Given the description of an element on the screen output the (x, y) to click on. 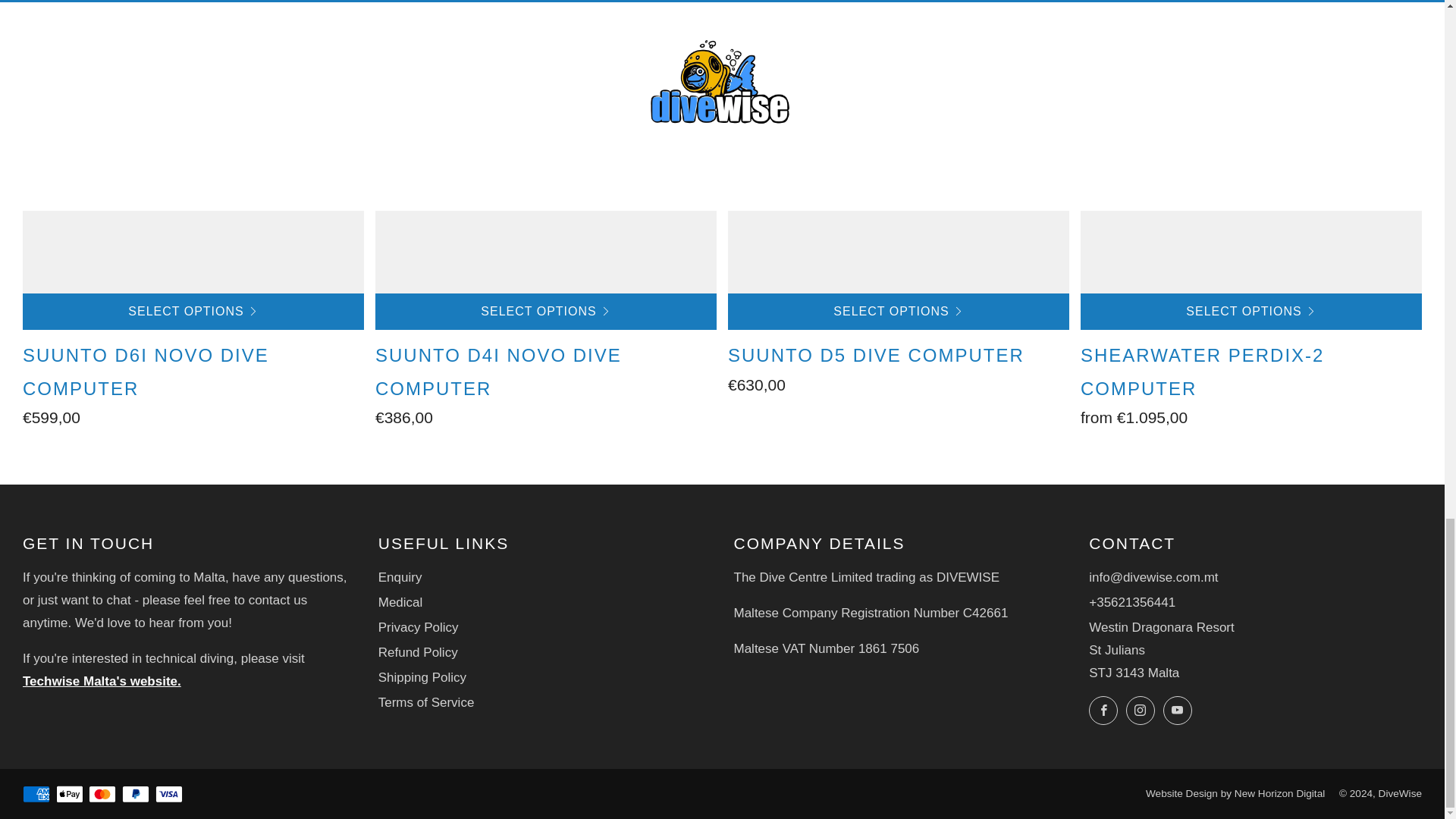
Suunto D5 Dive Computer (898, 146)
Shearwater Perdix-2 Computer (1251, 146)
Suunto D6i Novo Dive Computer (193, 146)
Suunto D4i Novo Dive Computer (545, 382)
Shearwater Perdix-2 Computer (1251, 382)
Suunto D5 Dive Computer (898, 365)
Suunto D6i Novo Dive Computer (193, 382)
Suunto D4i Novo Dive Computer (545, 146)
